Given the description of an element on the screen output the (x, y) to click on. 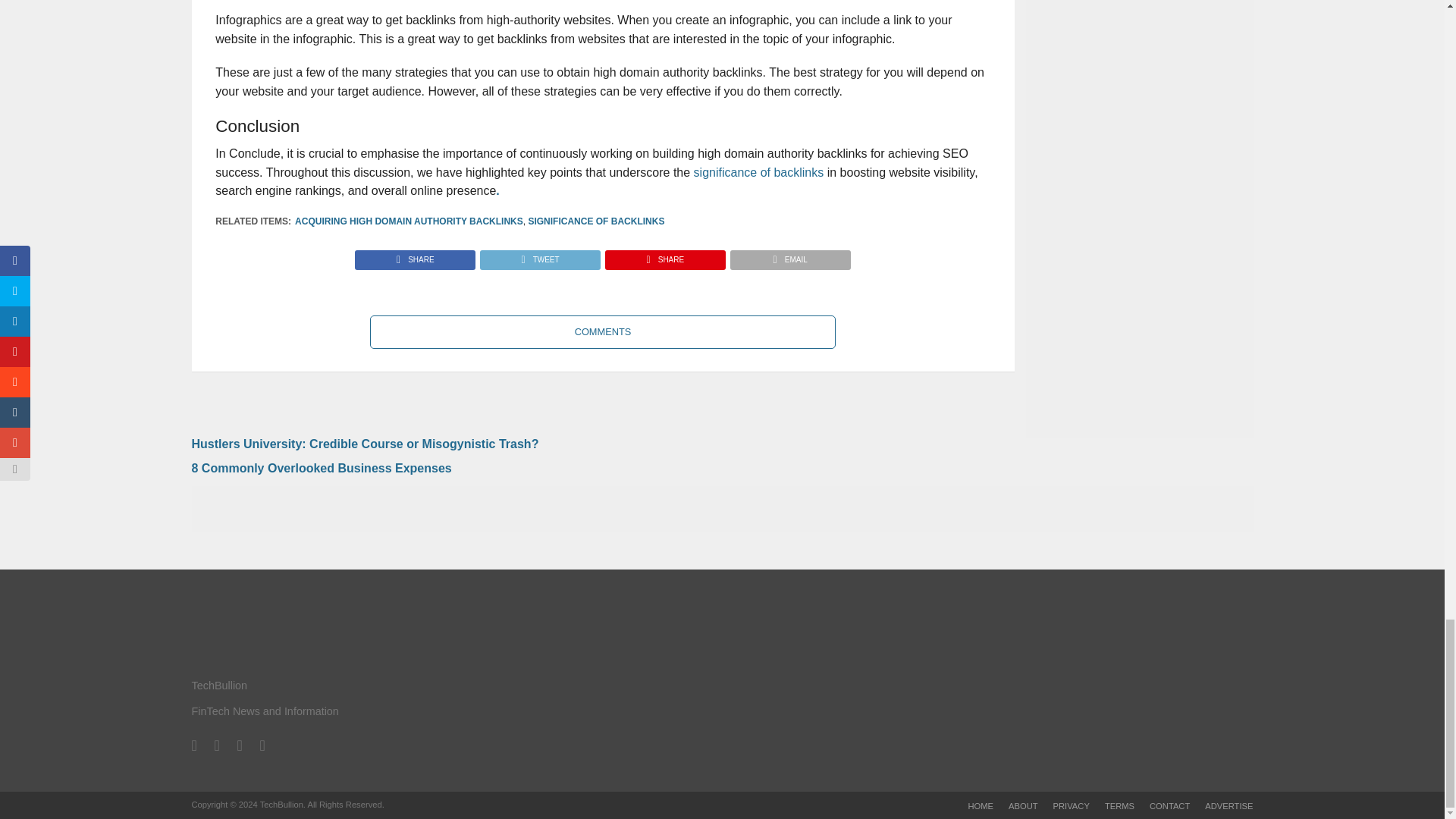
Tweet This Post (539, 255)
Share on Facebook (415, 255)
Pin This Post (664, 255)
